Given the description of an element on the screen output the (x, y) to click on. 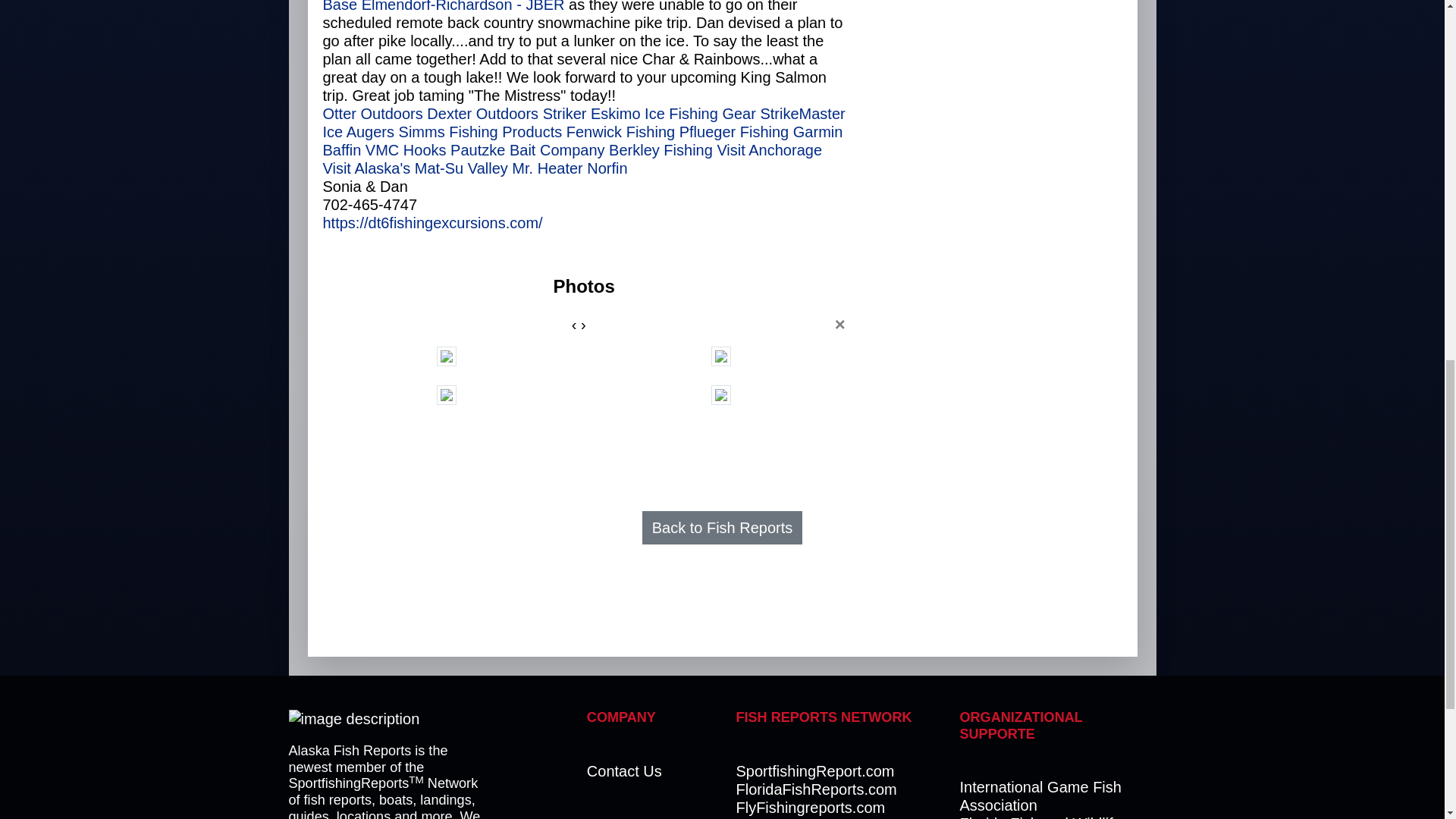
Simms Fishing Products (480, 131)
Mr. Heater (547, 167)
Norfin (606, 167)
StrikeMaster Ice Augers (584, 122)
Fenwick Fishing (620, 131)
Otter Outdoors (373, 113)
Baffin (342, 149)
Pautzke Bait Company (526, 149)
Dexter Outdoors (482, 113)
Joint Base Elmendorf-Richardson - JBER (566, 6)
